Given the description of an element on the screen output the (x, y) to click on. 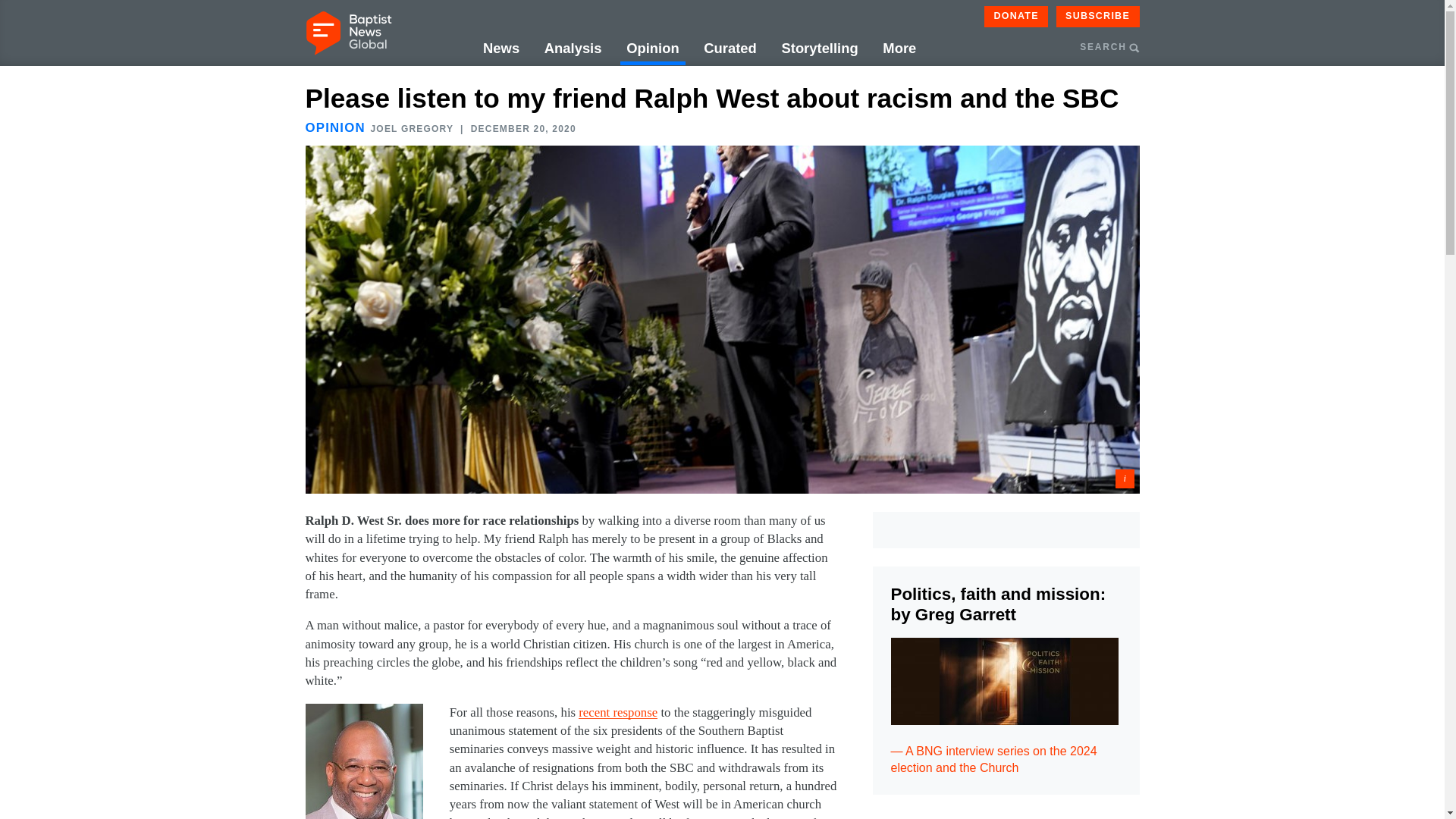
More (898, 49)
News (501, 49)
Search (1193, 119)
SUBSCRIBE (1098, 16)
Storytelling (819, 49)
DONATE (1016, 16)
Opinion (652, 49)
OPINION (334, 127)
Curated (729, 49)
Analysis (573, 49)
